Given the description of an element on the screen output the (x, y) to click on. 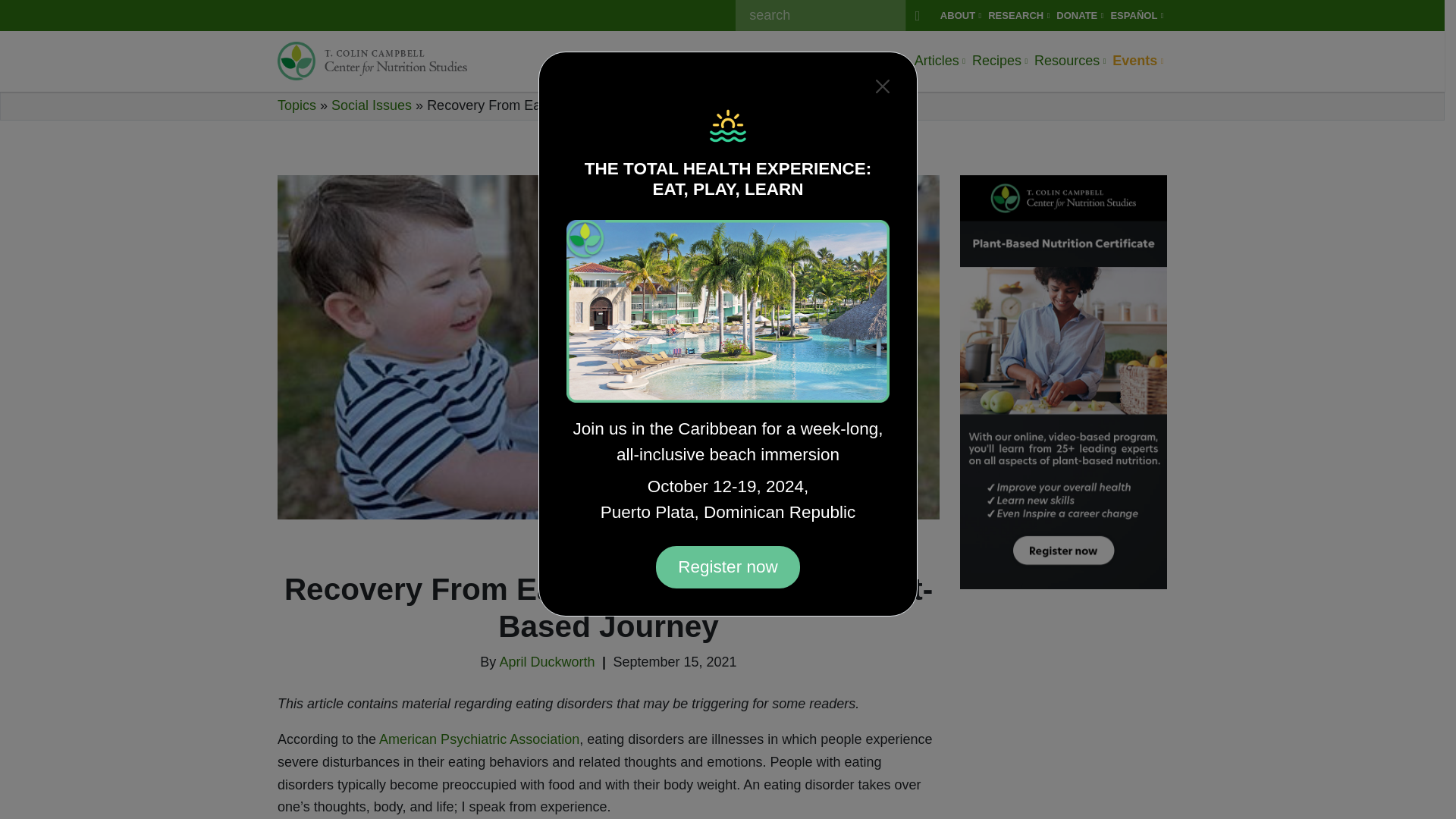
Articles (939, 60)
ABOUT (960, 15)
DONATE (1079, 15)
RESEARCH (1018, 15)
Certificates (713, 60)
T. Colin Campbell Center for Nutrition Studies (372, 60)
Register now (727, 567)
Communities (864, 60)
Courses (786, 60)
